Given the description of an element on the screen output the (x, y) to click on. 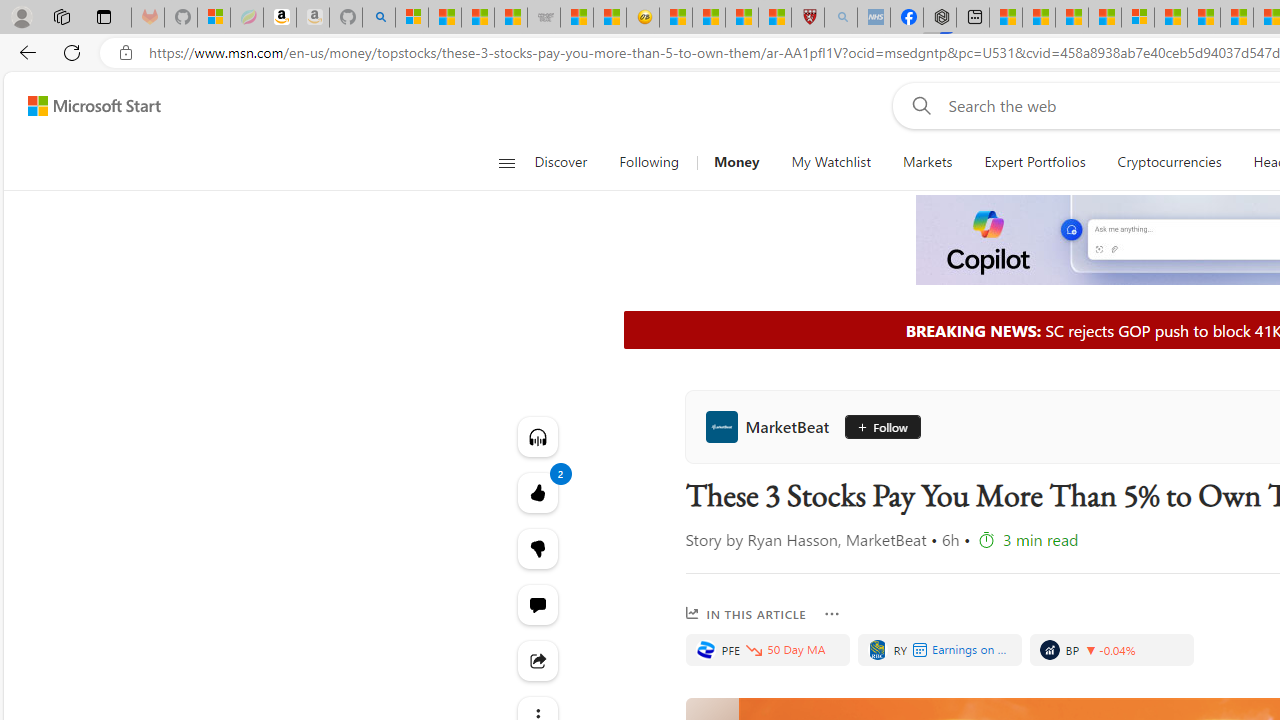
Money (736, 162)
Nordace - Nordace Siena Is Not An Ordinary Backpack (940, 17)
My Watchlist (830, 162)
Expert Portfolios (1034, 162)
Start the conversation (537, 604)
Robert H. Shmerling, MD - Harvard Health (808, 17)
Share this story (537, 660)
More Options (832, 614)
Science - MSN (741, 17)
My Watchlist (830, 162)
